Given the description of an element on the screen output the (x, y) to click on. 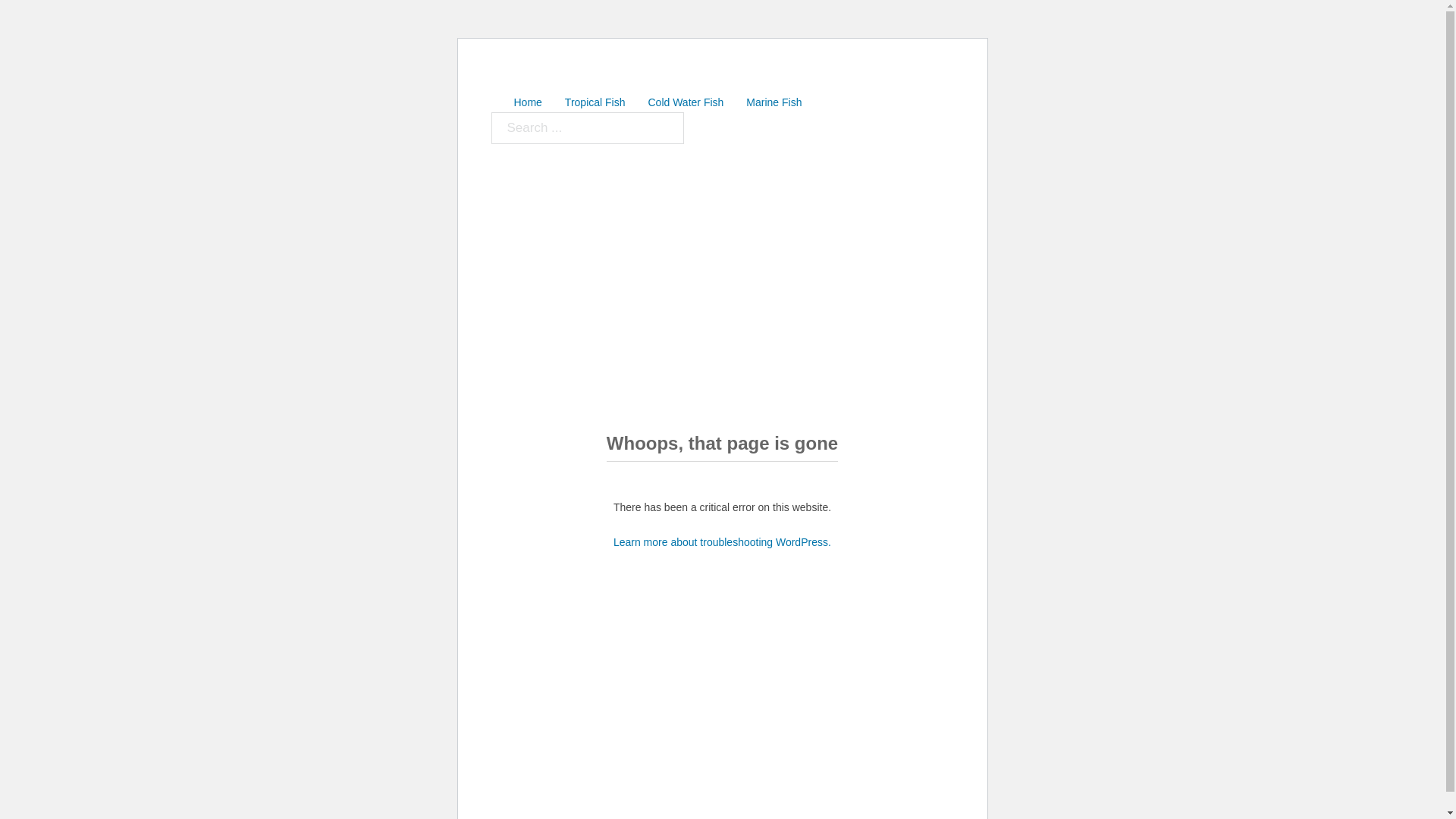
Learn more about troubleshooting WordPress. Element type: text (722, 542)
Marine Fish Element type: text (773, 103)
Tropical Fish Element type: text (594, 103)
Home Element type: text (528, 103)
Cold Water Fish Element type: text (685, 103)
Search Element type: text (489, 111)
